Given the description of an element on the screen output the (x, y) to click on. 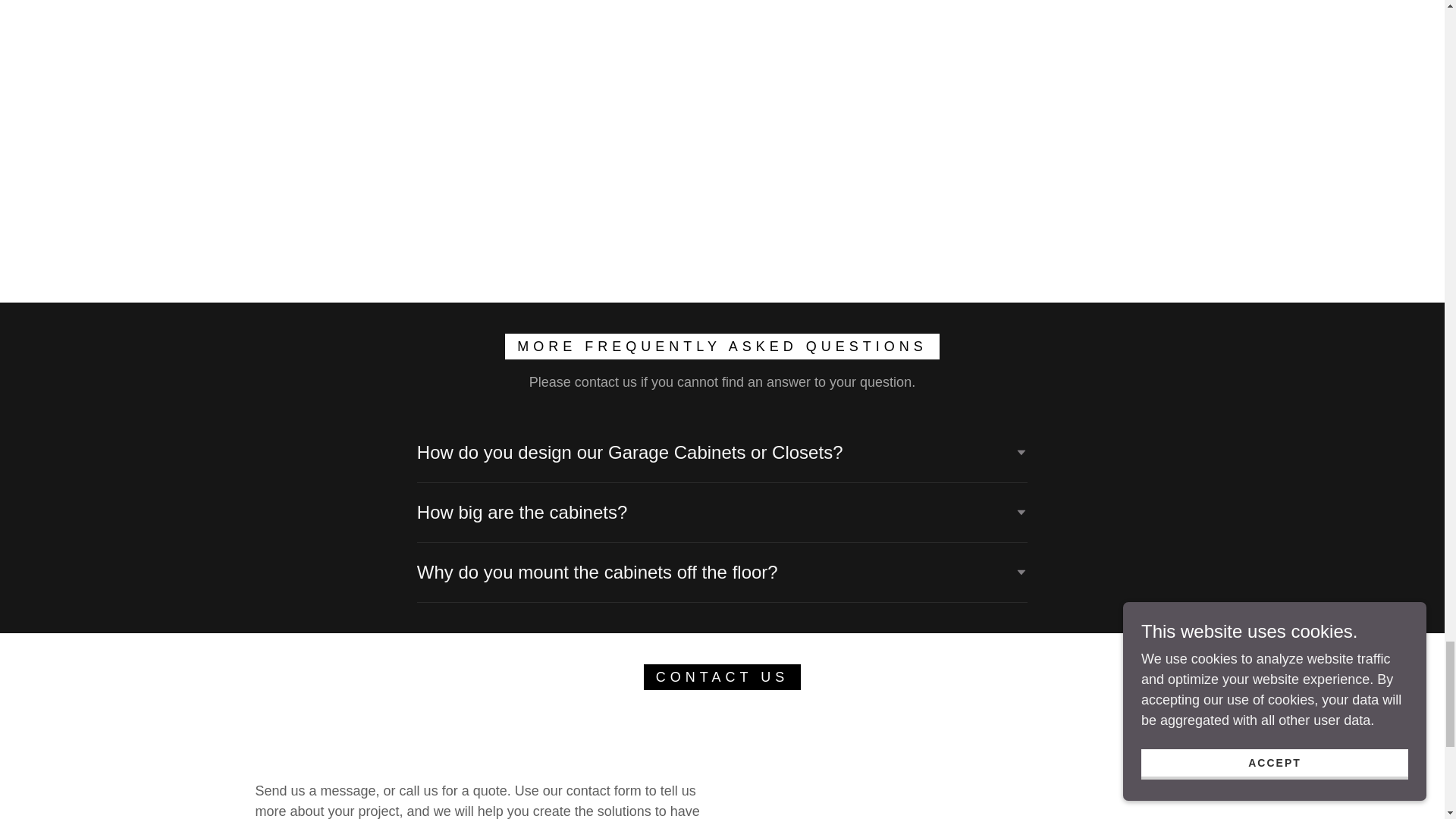
Why do you mount the cabinets off the floor? (721, 572)
How big are the cabinets? (721, 512)
How do you design our Garage Cabinets or Closets? (721, 452)
